Given the description of an element on the screen output the (x, y) to click on. 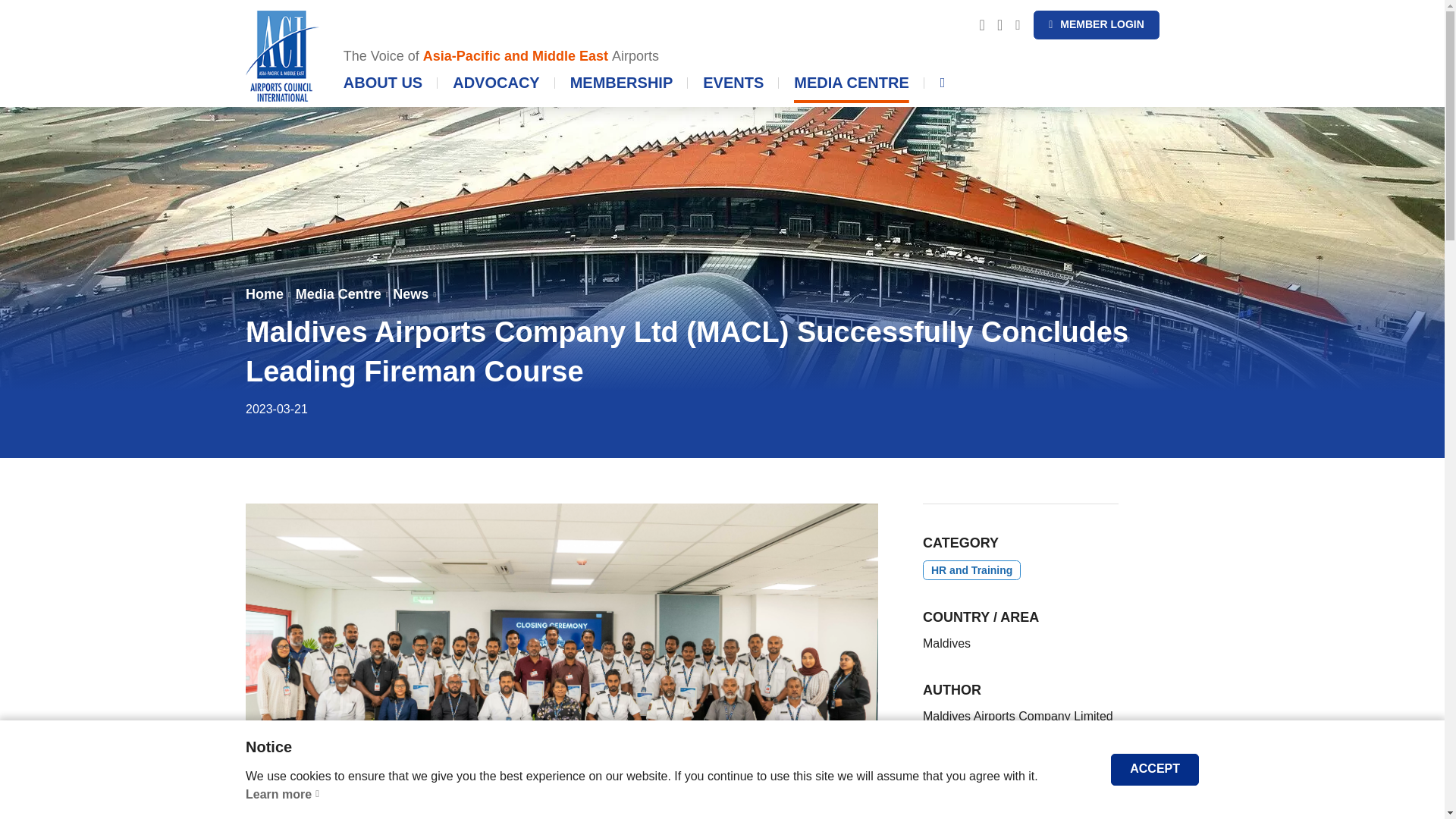
ADVOCACY (495, 87)
ABOUT US (382, 87)
